Given the description of an element on the screen output the (x, y) to click on. 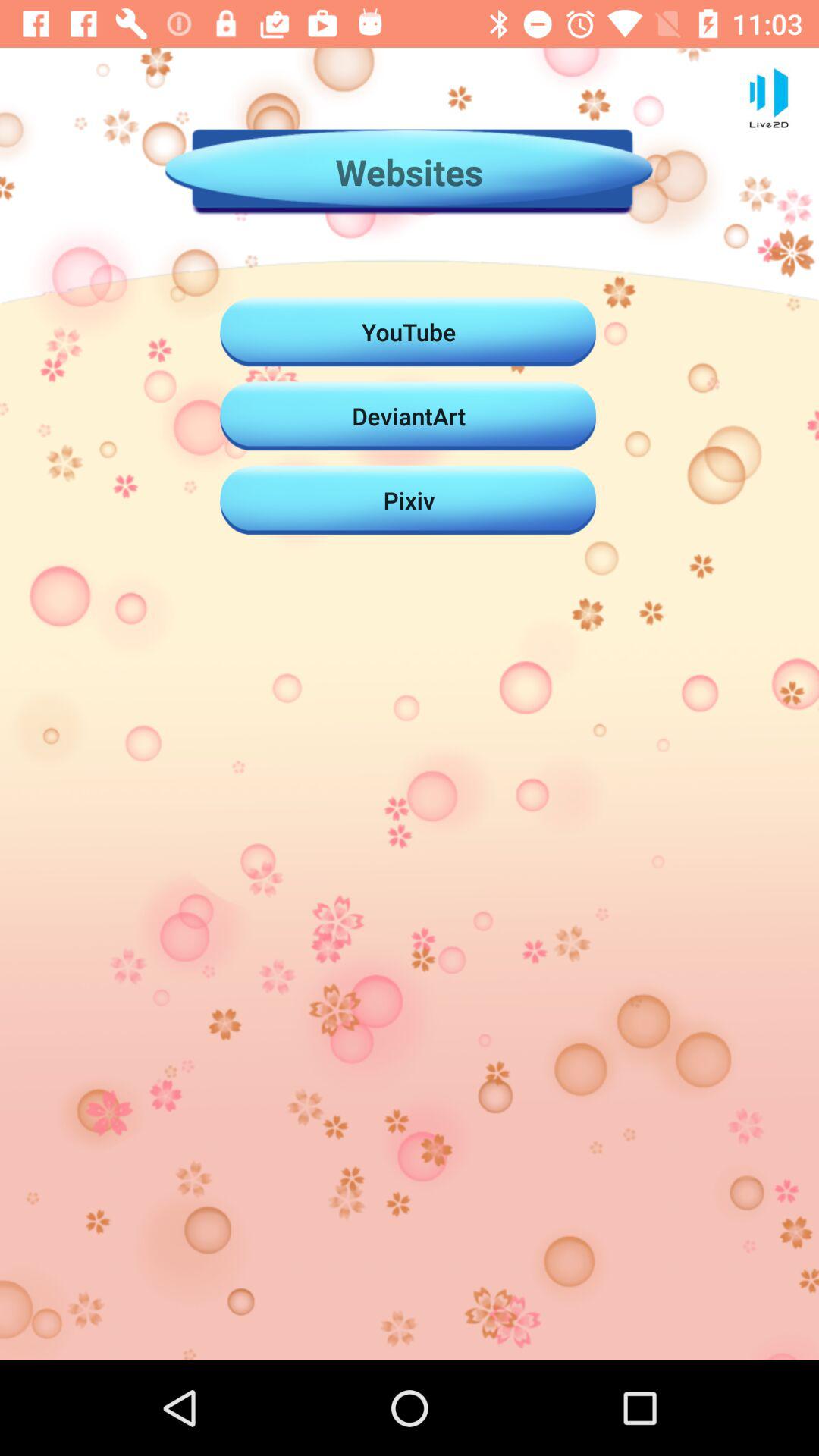
tap the deviantart item (409, 416)
